Given the description of an element on the screen output the (x, y) to click on. 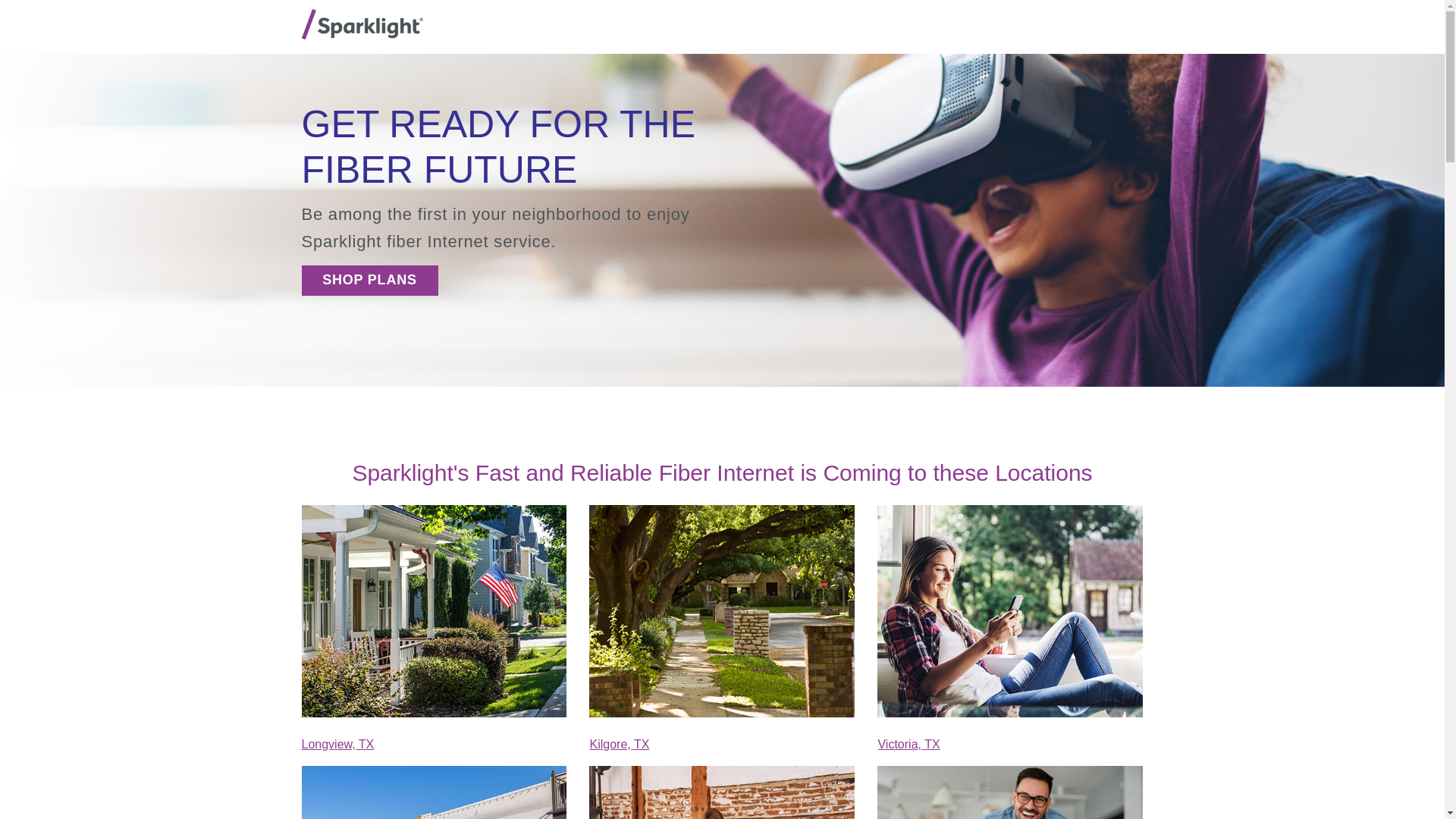
SHOP PLANS (369, 278)
Victoria, TX (908, 744)
Kilgore, TX (619, 744)
Longview, TX (337, 744)
